Given the description of an element on the screen output the (x, y) to click on. 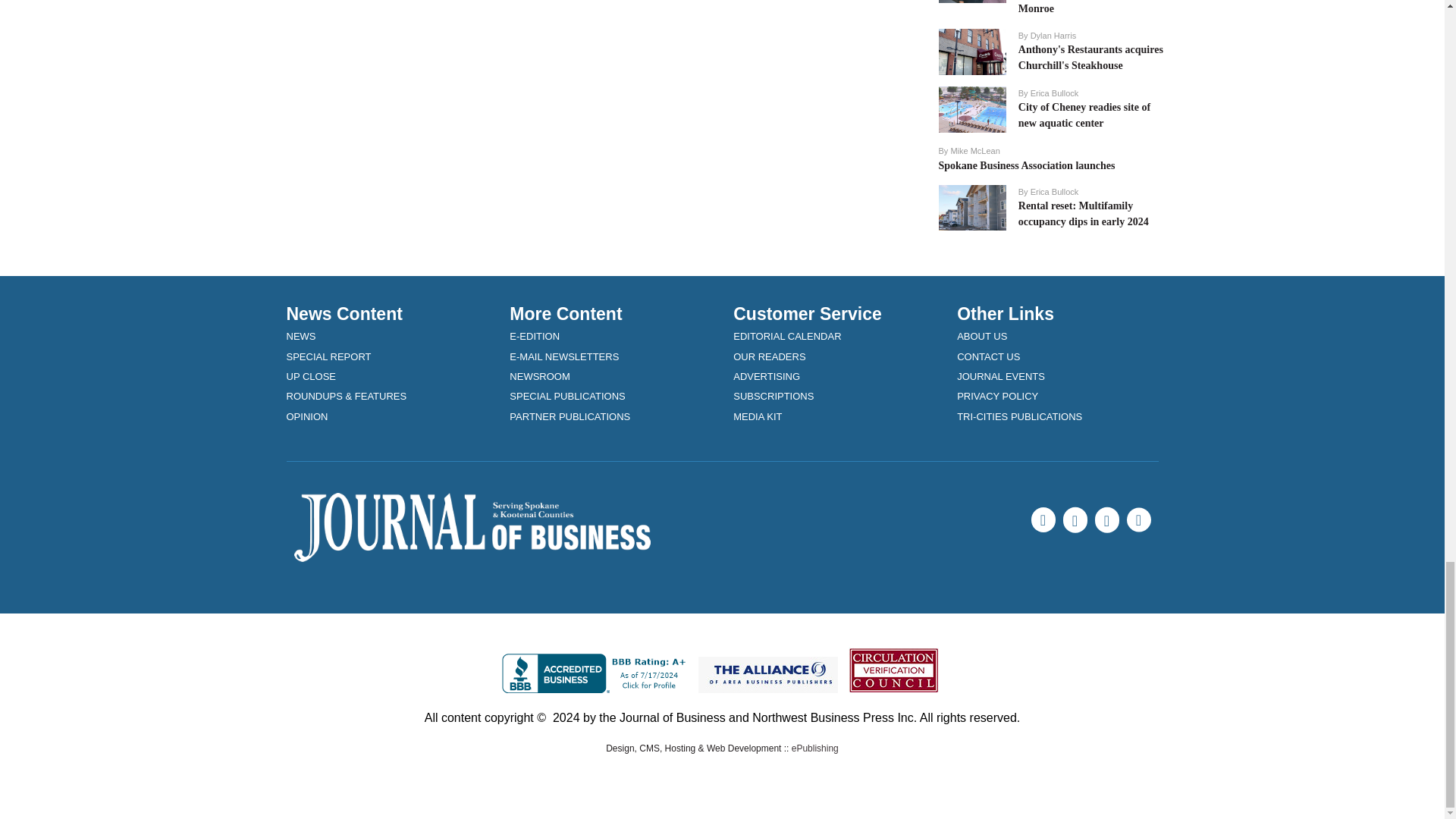
Journal of Business BBB Business Review (596, 672)
Journal of Business BBB Business Review (596, 671)
